Given the description of an element on the screen output the (x, y) to click on. 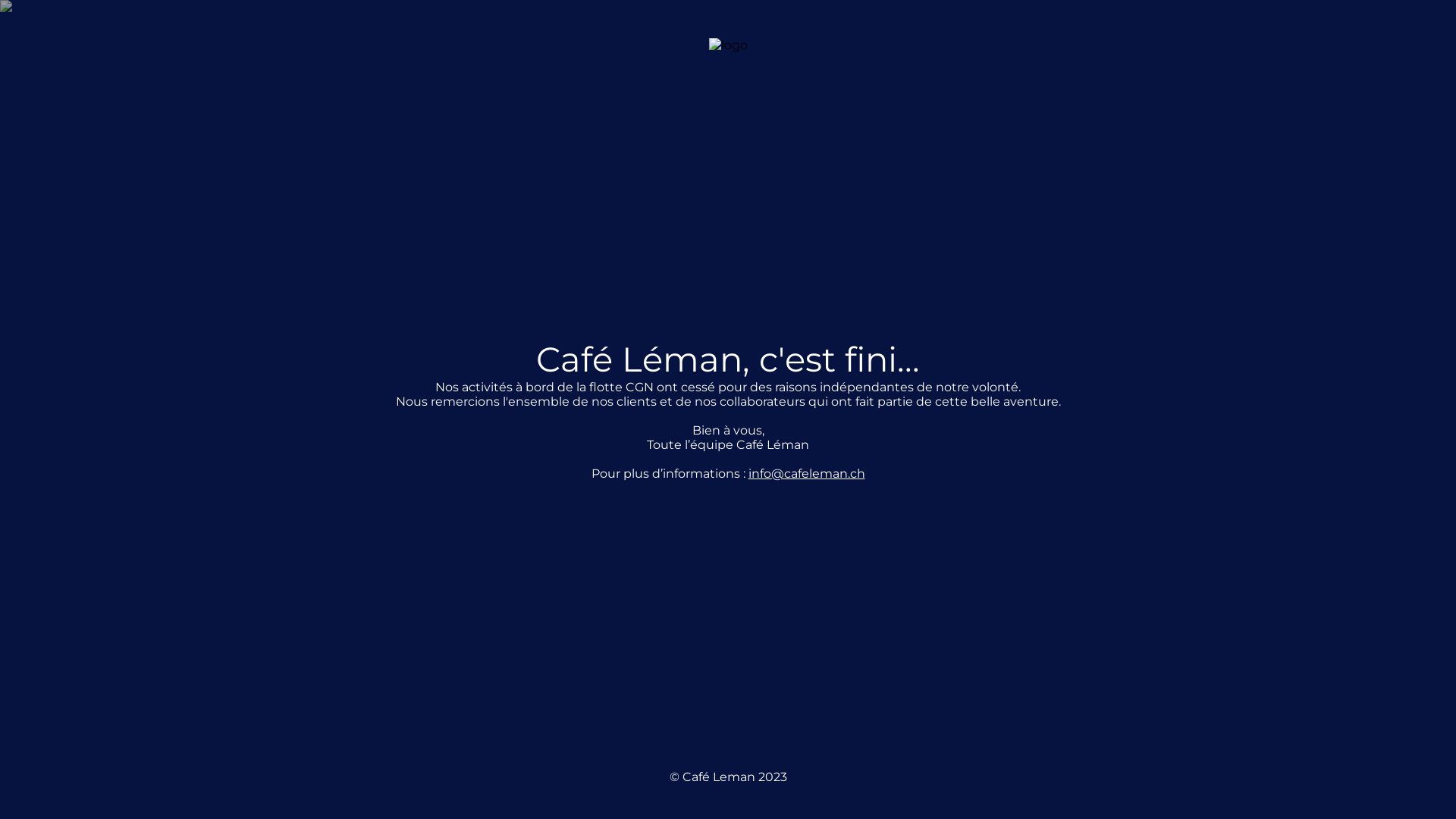
info@cafeleman.ch Element type: text (805, 473)
